Given the description of an element on the screen output the (x, y) to click on. 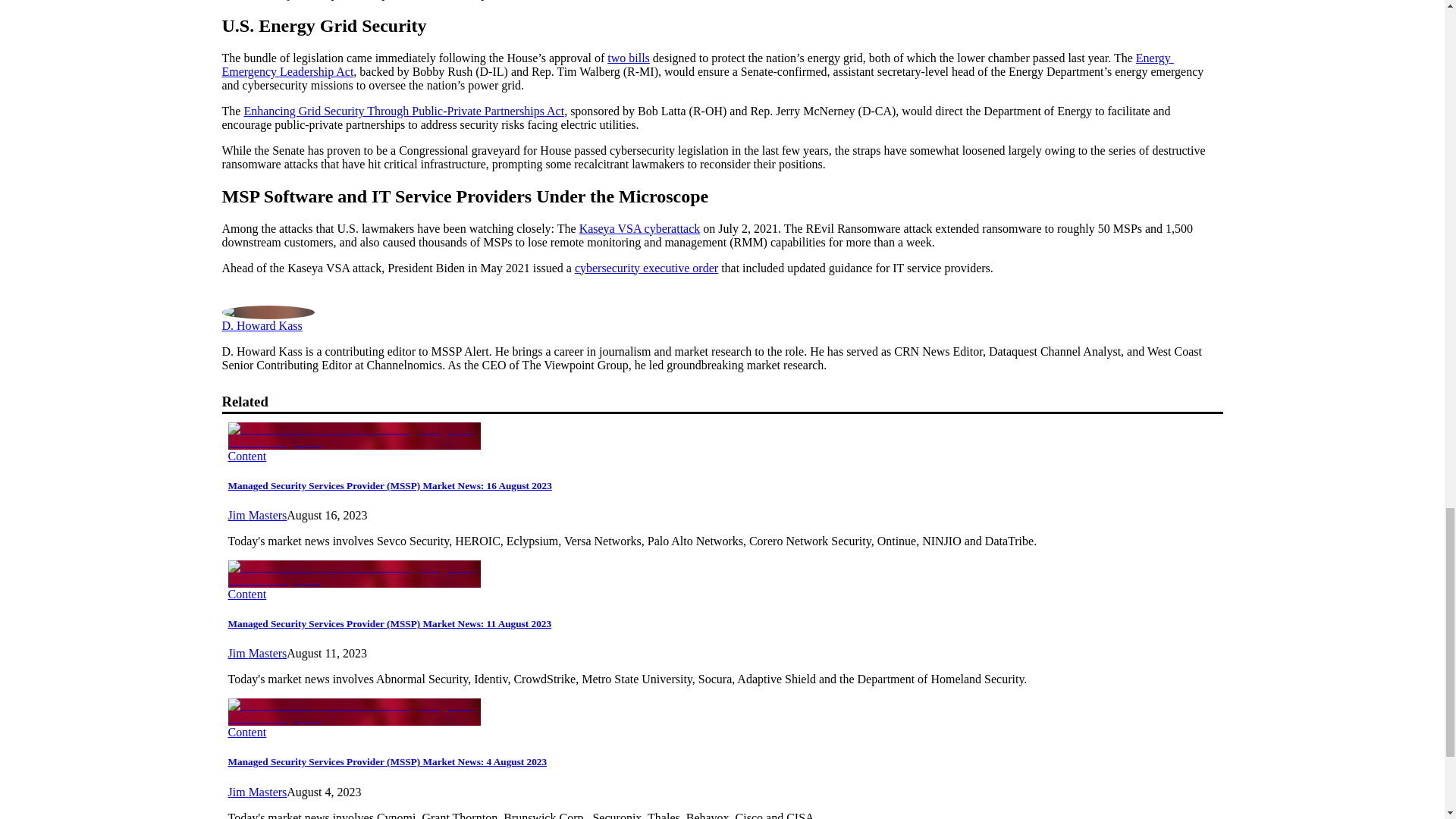
Content (246, 594)
cybersecurity executive order (646, 267)
Jim Masters (256, 514)
Content (246, 454)
D. Howard Kass (261, 324)
Jim Masters (256, 653)
Jim Masters (256, 791)
Energy Emergency Leadership Act (697, 64)
Kaseya VSA cyberattack (639, 227)
Content (246, 731)
two bills (628, 57)
